Given the description of an element on the screen output the (x, y) to click on. 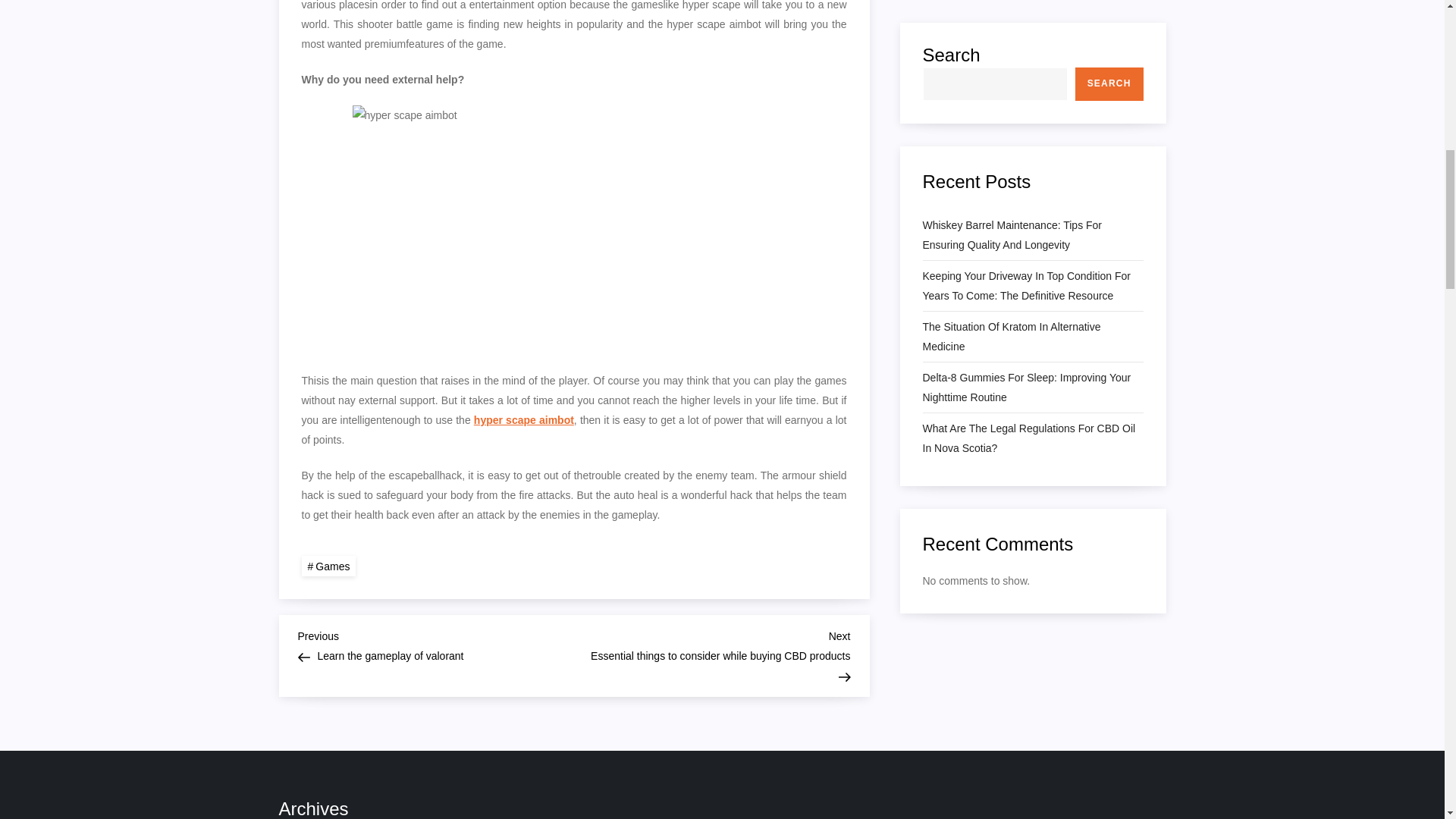
hyper scape aimbot (435, 643)
Games (523, 419)
